Given the description of an element on the screen output the (x, y) to click on. 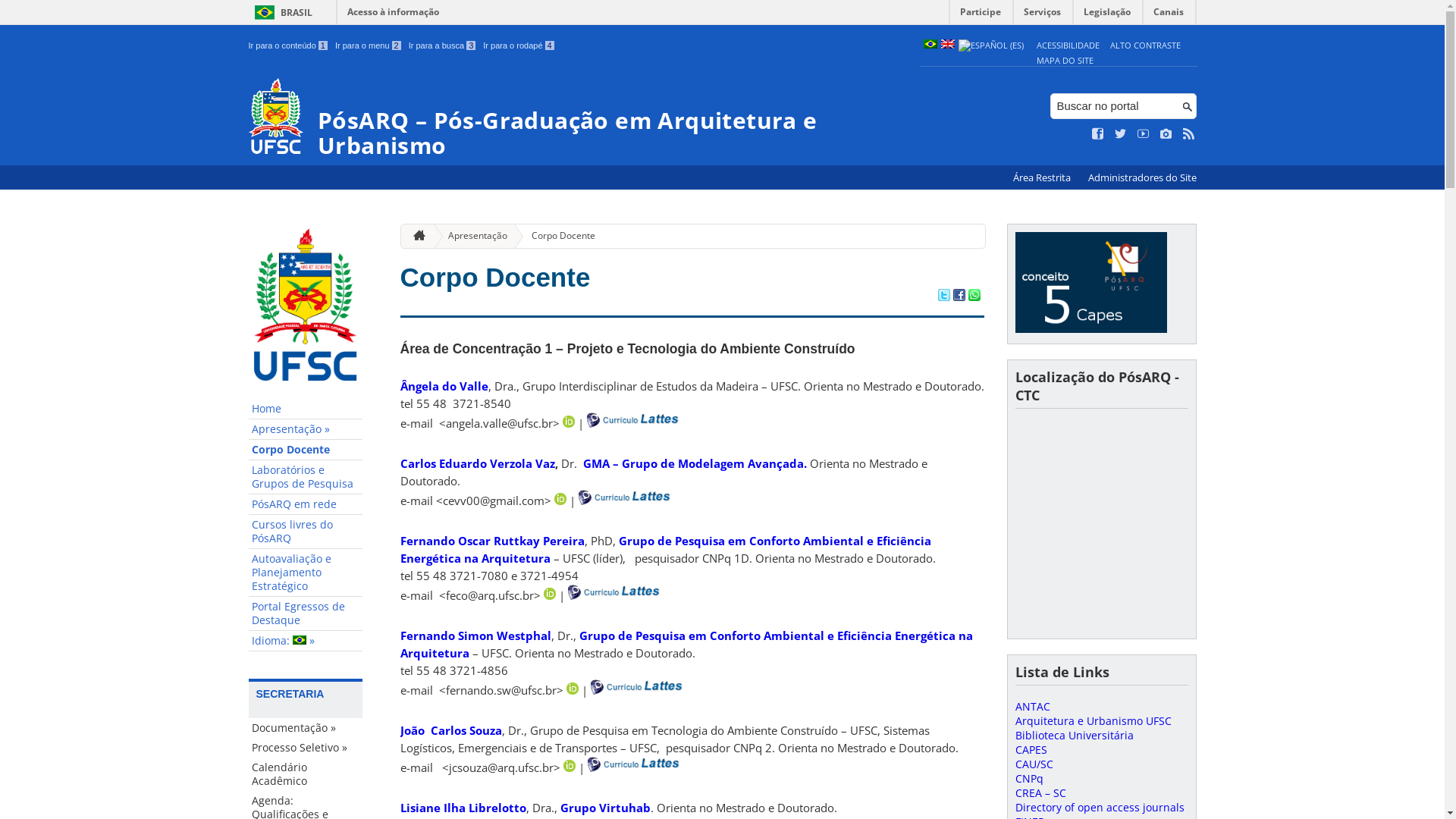
Compartilhar no WhatsApp Element type: hover (973, 296)
English (en) Element type: hover (946, 44)
Corpo Docente Element type: text (495, 276)
Compartilhar no Twitter Element type: hover (943, 296)
Canais Element type: text (1169, 15)
Lisiane Ilha Librelotto Element type: text (463, 807)
BRASIL Element type: text (280, 12)
ACESSIBILIDADE Element type: text (1067, 44)
Arquitetura e Urbanismo UFSC Element type: text (1092, 720)
Participe Element type: text (980, 15)
Home Element type: text (305, 408)
Ir para o menu 2 Element type: text (368, 45)
Fernando Simon Westphal Element type: text (475, 635)
Fernando Oscar Ruttkay Pereira Element type: text (492, 540)
Veja no Instagram Element type: hover (1166, 134)
Compartilhar no Facebook Element type: hover (958, 296)
Curta no Facebook Element type: hover (1098, 134)
Carlos Eduardo Verzola Vaz Element type: text (477, 462)
MAPA DO SITE Element type: text (1064, 59)
Corpo Docente Element type: text (557, 235)
CAU/SC Element type: text (1033, 763)
ALTO CONTRASTE Element type: text (1145, 44)
ANTAC Element type: text (1031, 706)
Ir para a busca 3 Element type: text (442, 45)
Siga no Twitter Element type: hover (1120, 134)
Portal Egressos de Destaque Element type: text (305, 613)
Grupo Virtuhab Element type: text (604, 807)
Administradores do Site Element type: text (1141, 177)
Directory of open access journals Element type: text (1098, 807)
CAPES Element type: text (1030, 749)
Corpo Docente Element type: text (305, 449)
CNPq Element type: text (1028, 778)
